Given the description of an element on the screen output the (x, y) to click on. 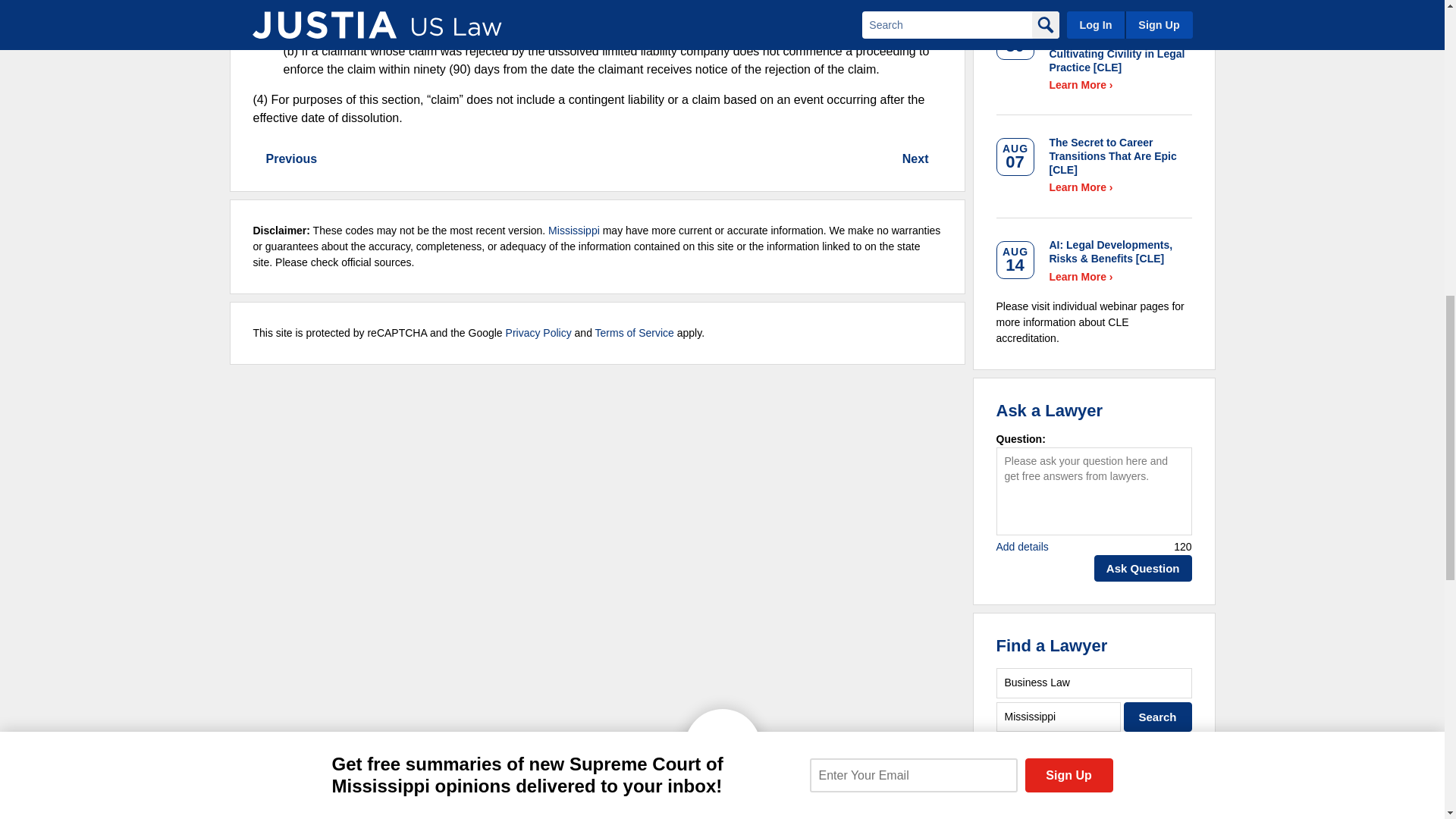
City, State (1058, 716)
Mississippi (1058, 716)
Legal Issue or Lawyer Name (1093, 682)
Search (1158, 716)
right (937, 158)
right (257, 158)
Search (1158, 716)
Business Law (1093, 682)
